Given the description of an element on the screen output the (x, y) to click on. 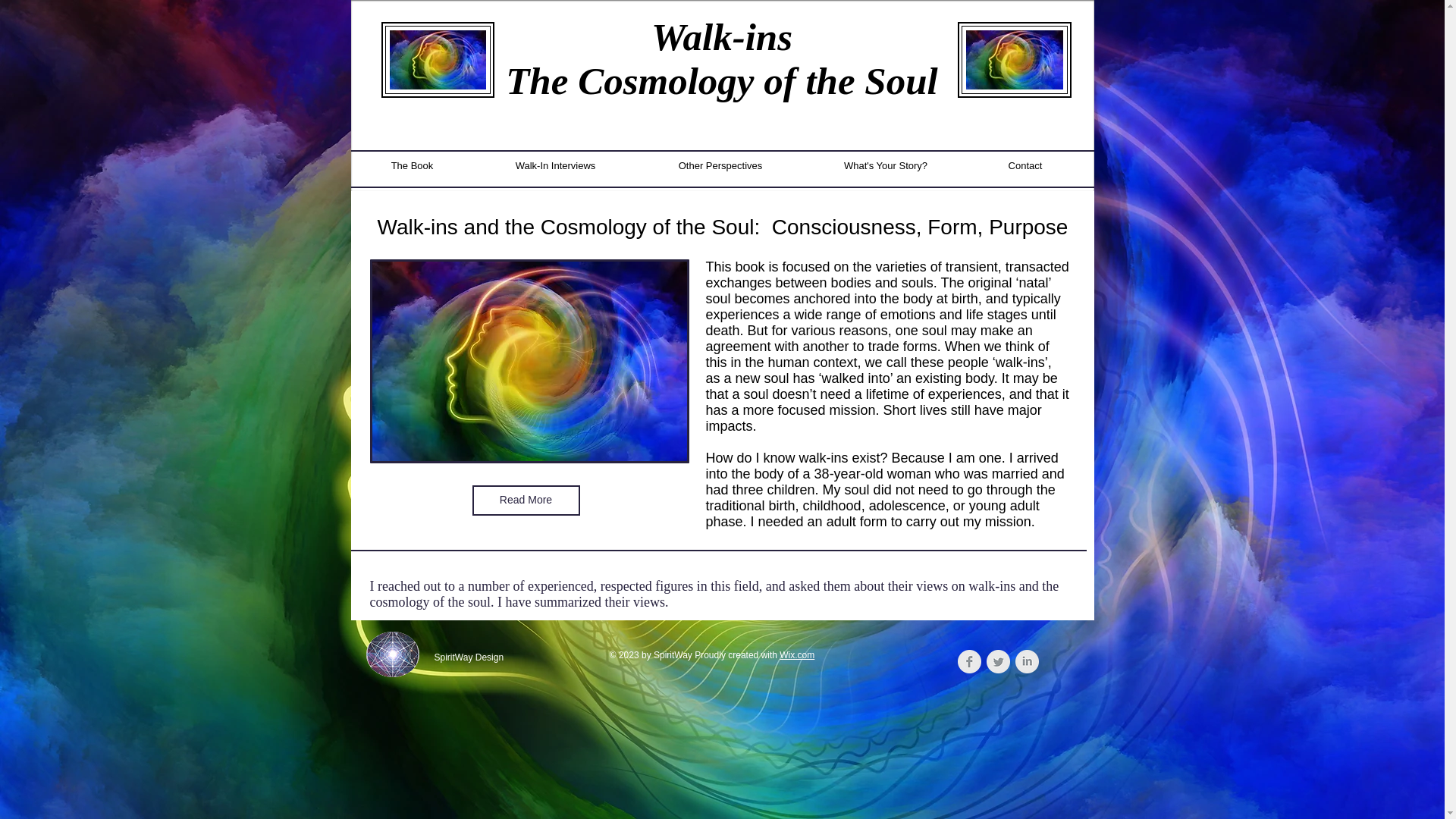
Other Perspectives (720, 165)
Contact (1025, 165)
The (541, 80)
The Book (411, 165)
What's Your Story? (885, 165)
Walk-ins (721, 36)
Walk-In Interviews (554, 165)
Wix.com (795, 655)
Cosmology of the Soul (757, 80)
Read More (525, 500)
